Given the description of an element on the screen output the (x, y) to click on. 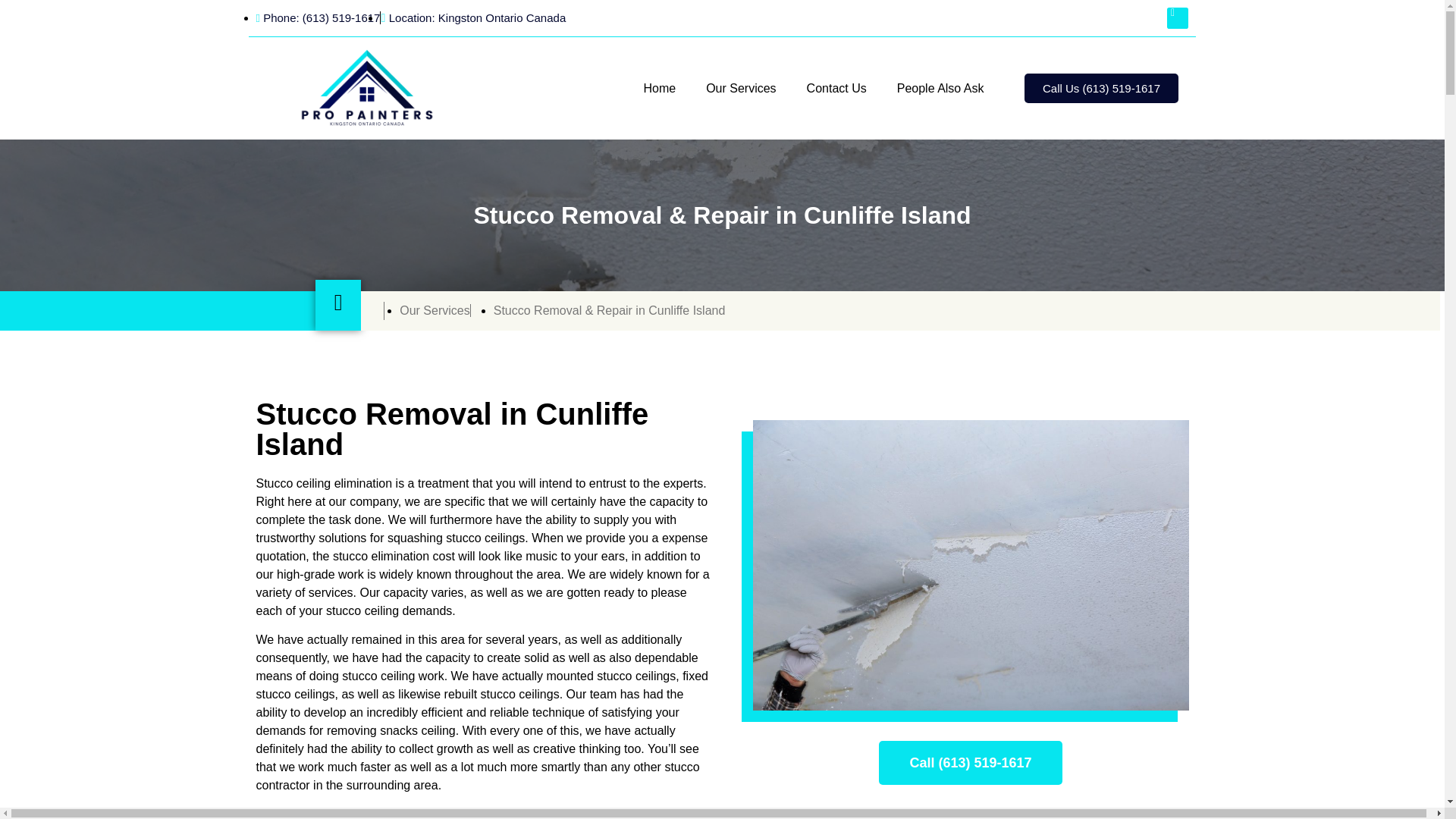
Our Services (740, 88)
People Also Ask (940, 88)
Contact Us (837, 88)
Home (658, 88)
